Given the description of an element on the screen output the (x, y) to click on. 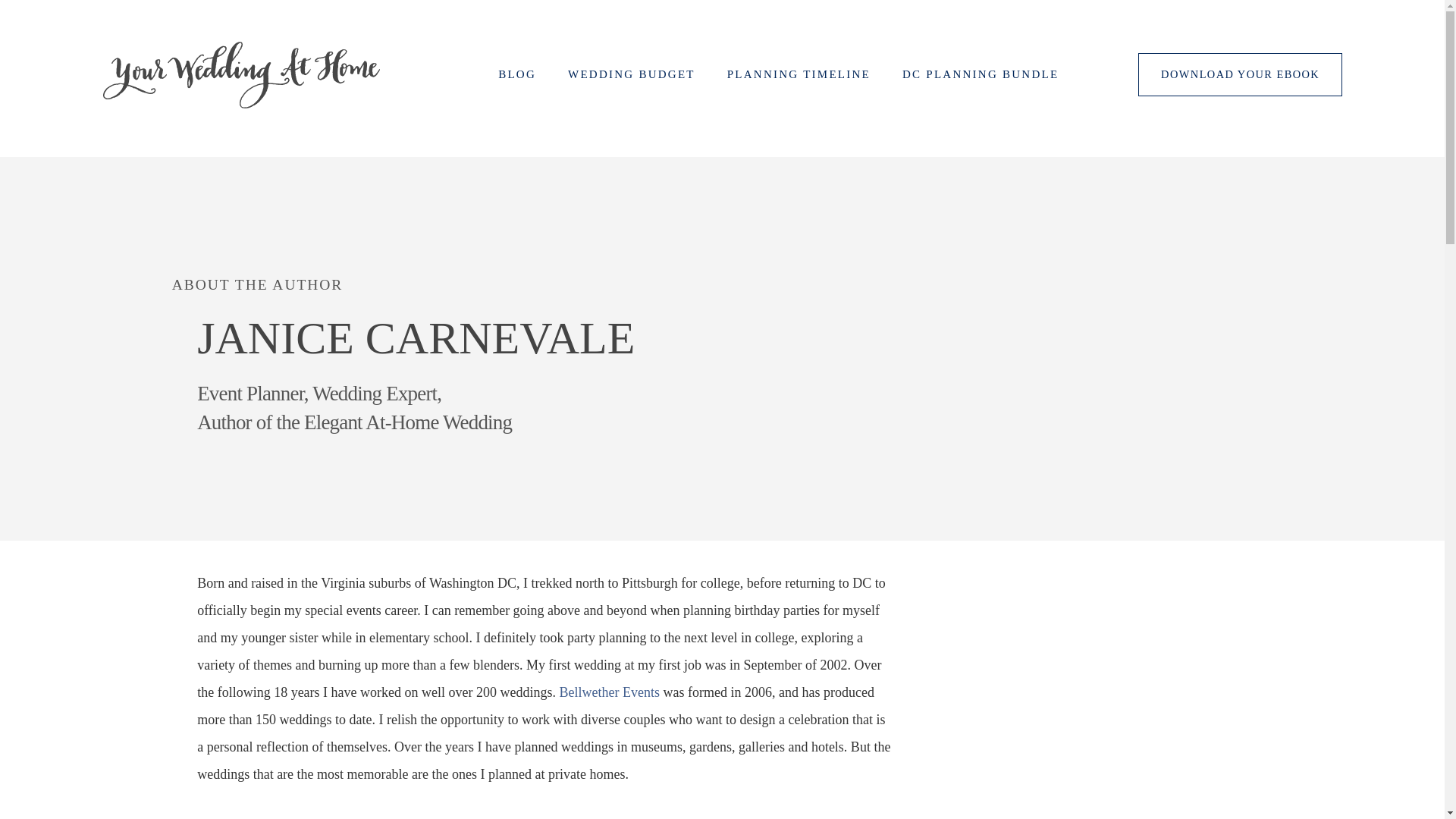
WEDDING BUDGET (631, 78)
Bellwether Events (609, 692)
DC PLANNING BUNDLE (980, 78)
DOWNLOAD YOUR EBOOK (1240, 74)
BLOG (516, 78)
PLANNING TIMELINE (798, 78)
